Given the description of an element on the screen output the (x, y) to click on. 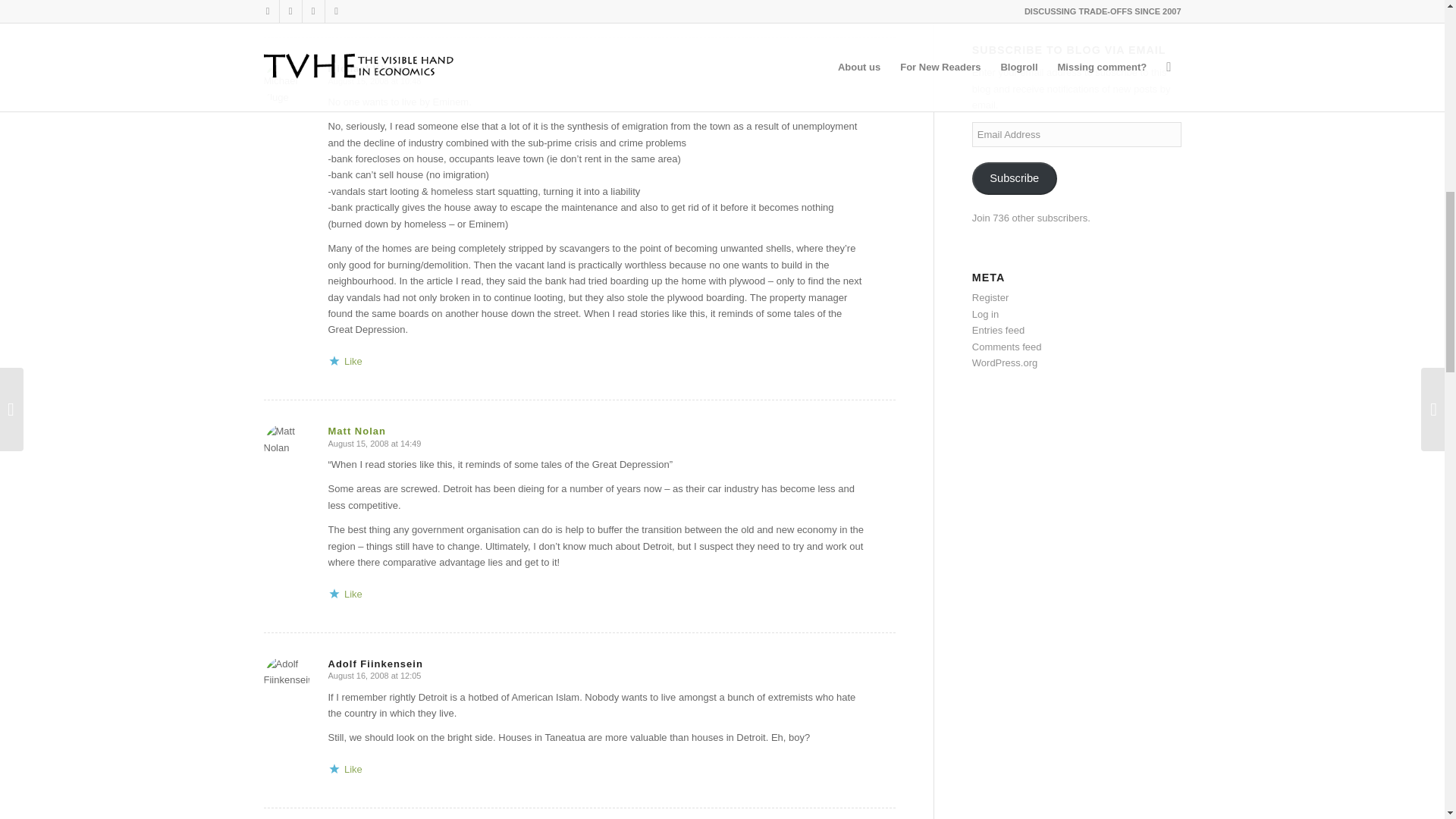
August 15, 2008 at 10:48 (373, 80)
Matt Nolan (356, 430)
